Given the description of an element on the screen output the (x, y) to click on. 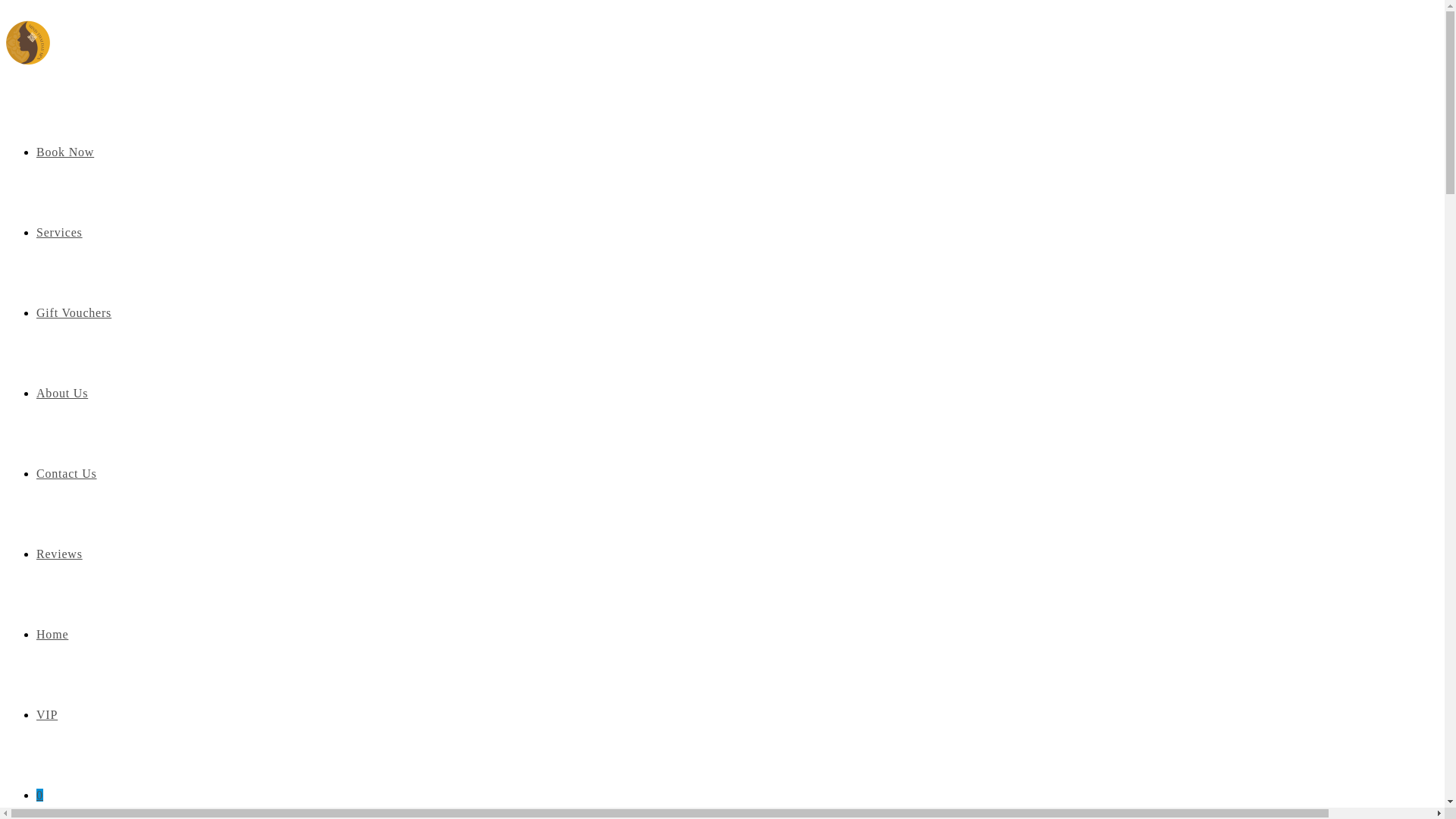
VIP Element type: text (46, 714)
Contact Us Element type: text (66, 473)
0 Element type: text (39, 794)
Gift Vouchers Element type: text (73, 312)
Skip to content Element type: text (42, 12)
Services Element type: text (59, 231)
Home Element type: text (52, 633)
About Us Element type: text (61, 392)
Book Now Element type: text (65, 151)
Reviews Element type: text (59, 553)
